Given the description of an element on the screen output the (x, y) to click on. 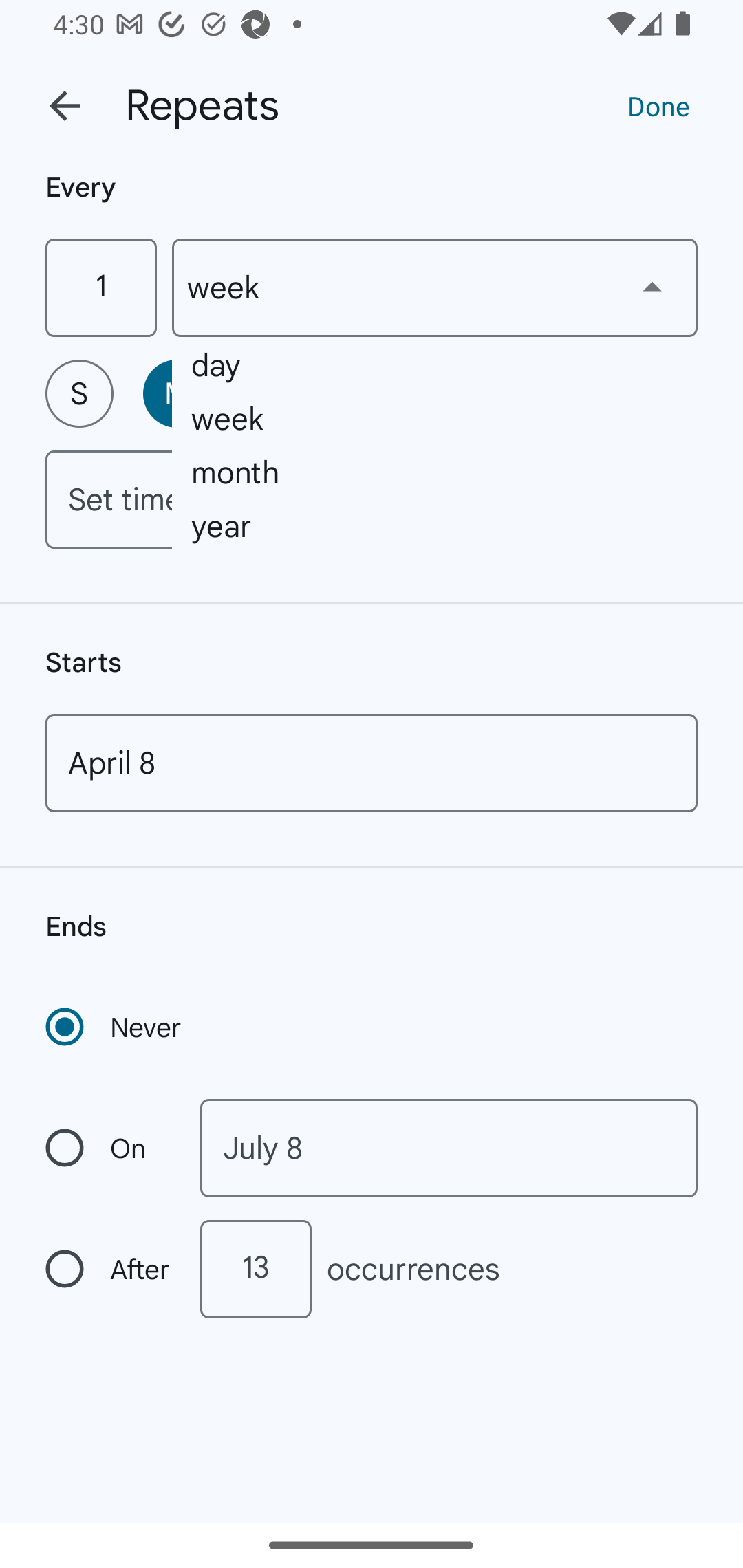
Back (64, 105)
Done (658, 105)
1 (100, 287)
week (434, 287)
Show dropdown menu (652, 286)
S Sunday (79, 393)
Set time (371, 499)
April 8 (371, 762)
Never Recurrence never ends (115, 1026)
July 8 (448, 1148)
On Recurrence ends on a specific date (109, 1148)
13 (255, 1268)
